Given the description of an element on the screen output the (x, y) to click on. 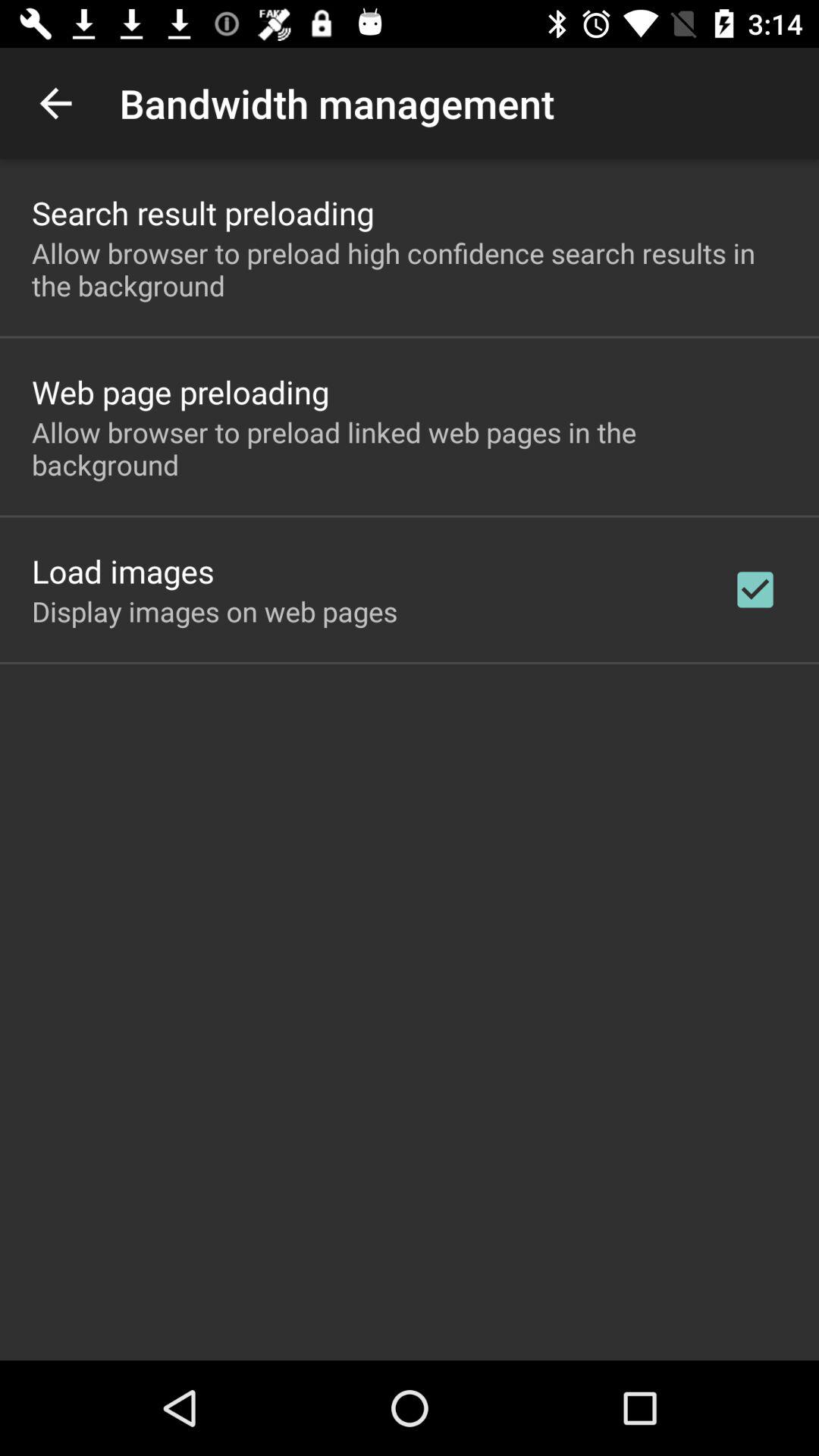
flip to load images (122, 570)
